Given the description of an element on the screen output the (x, y) to click on. 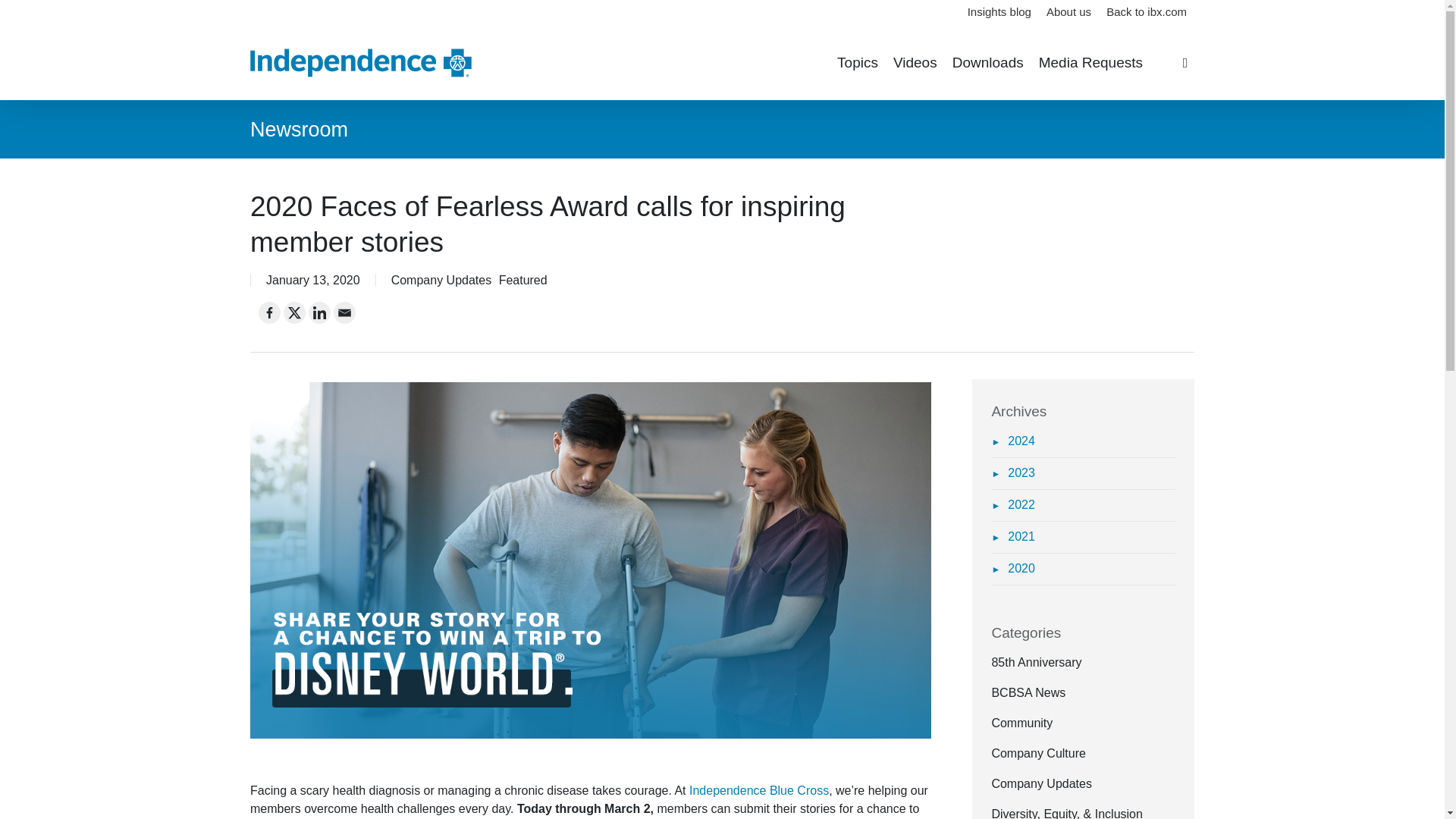
Email (344, 312)
About us (1069, 11)
Insights blog (999, 11)
Topics (857, 62)
Media Requests (1090, 62)
Linkedin (319, 312)
Facebook (270, 312)
Videos (915, 62)
2024 (1012, 440)
X (294, 312)
search (1184, 62)
Downloads (987, 62)
Back to ibx.com (1146, 11)
